Given the description of an element on the screen output the (x, y) to click on. 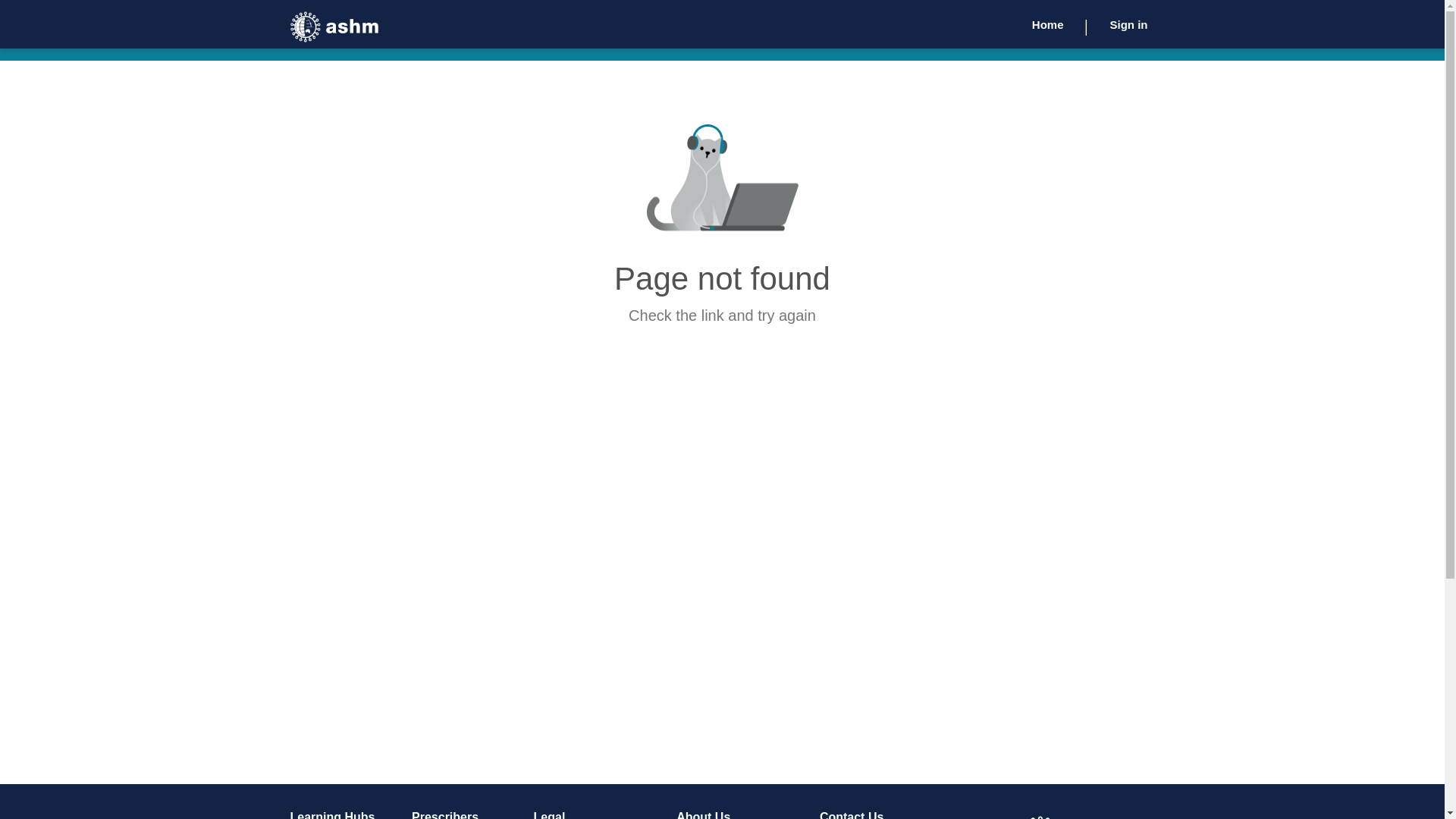
Home Element type: text (1047, 24)
Sign in Element type: text (1129, 24)
